Given the description of an element on the screen output the (x, y) to click on. 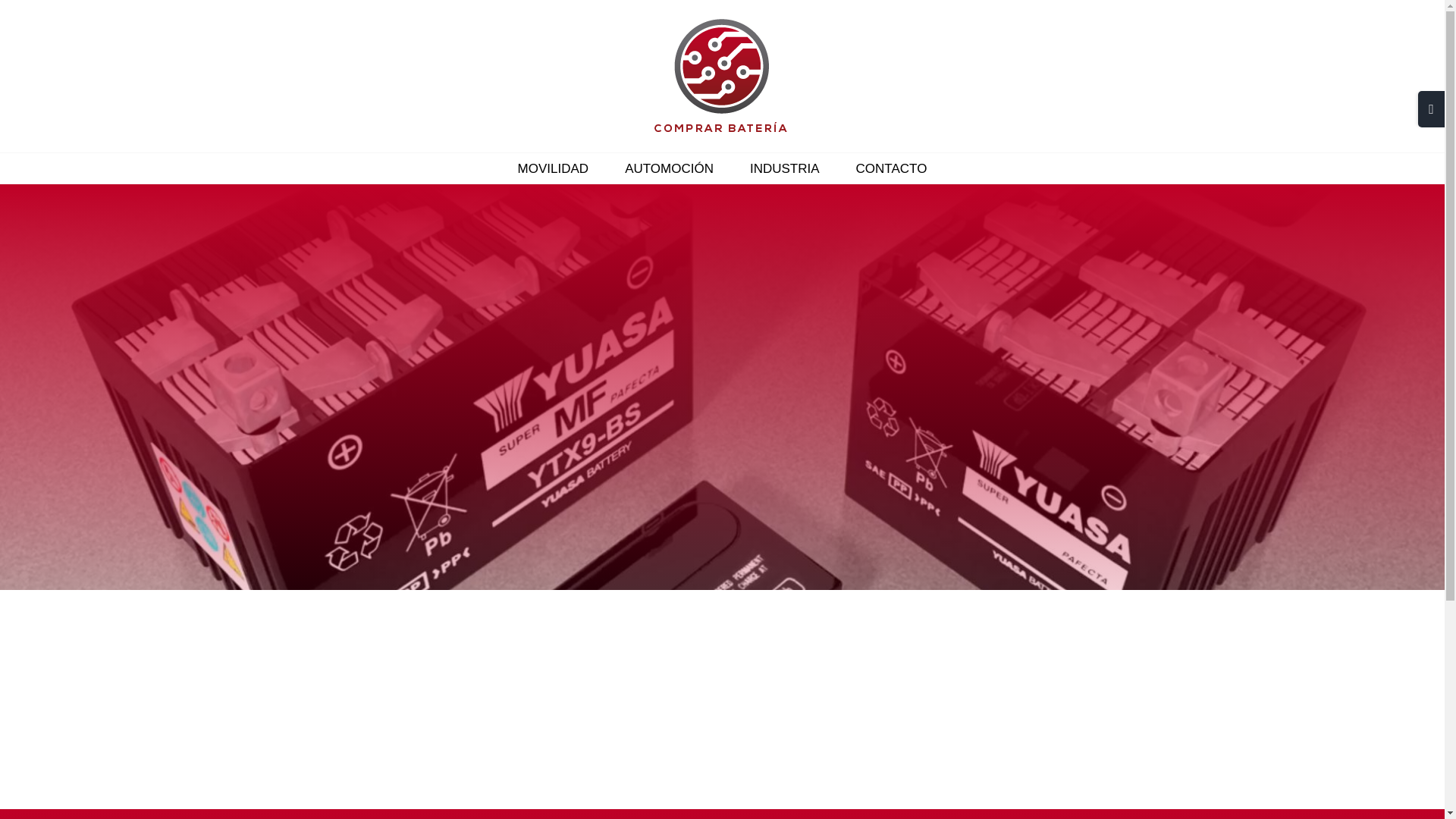
MOVILIDAD (553, 168)
INDUSTRIA (784, 168)
CONTACTO (891, 168)
